Given the description of an element on the screen output the (x, y) to click on. 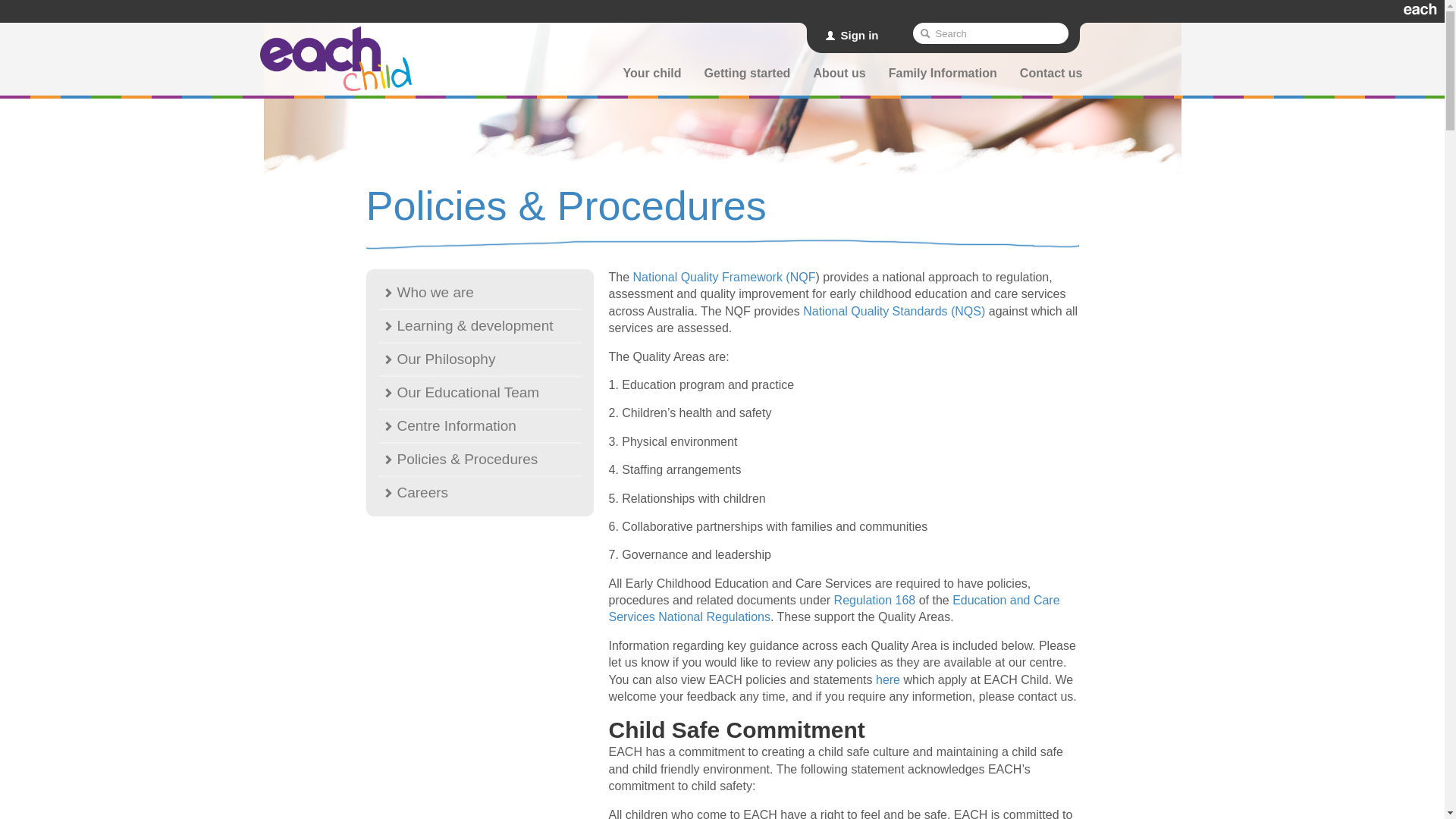
here Element type: text (887, 679)
Home Element type: hover (335, 58)
Contact us Element type: text (1051, 75)
Who we are Element type: text (479, 292)
Policies & Procedures Element type: text (479, 459)
Regulation 168 Element type: text (875, 599)
Your child Element type: text (652, 75)
Our Educational Team Element type: text (479, 392)
Our Philosophy Element type: text (479, 359)
About us Element type: text (839, 75)
Education and Care Services National Regulations Element type: text (833, 608)
Sign in Element type: text (851, 34)
Centre Information Element type: text (479, 426)
Getting started Element type: text (747, 75)
Learning & development Element type: text (479, 326)
Careers Element type: text (479, 492)
Family Information Element type: text (942, 75)
National Quality Standards (NQS) Element type: text (894, 310)
National Quality Framework (NQF Element type: text (724, 276)
